Given the description of an element on the screen output the (x, y) to click on. 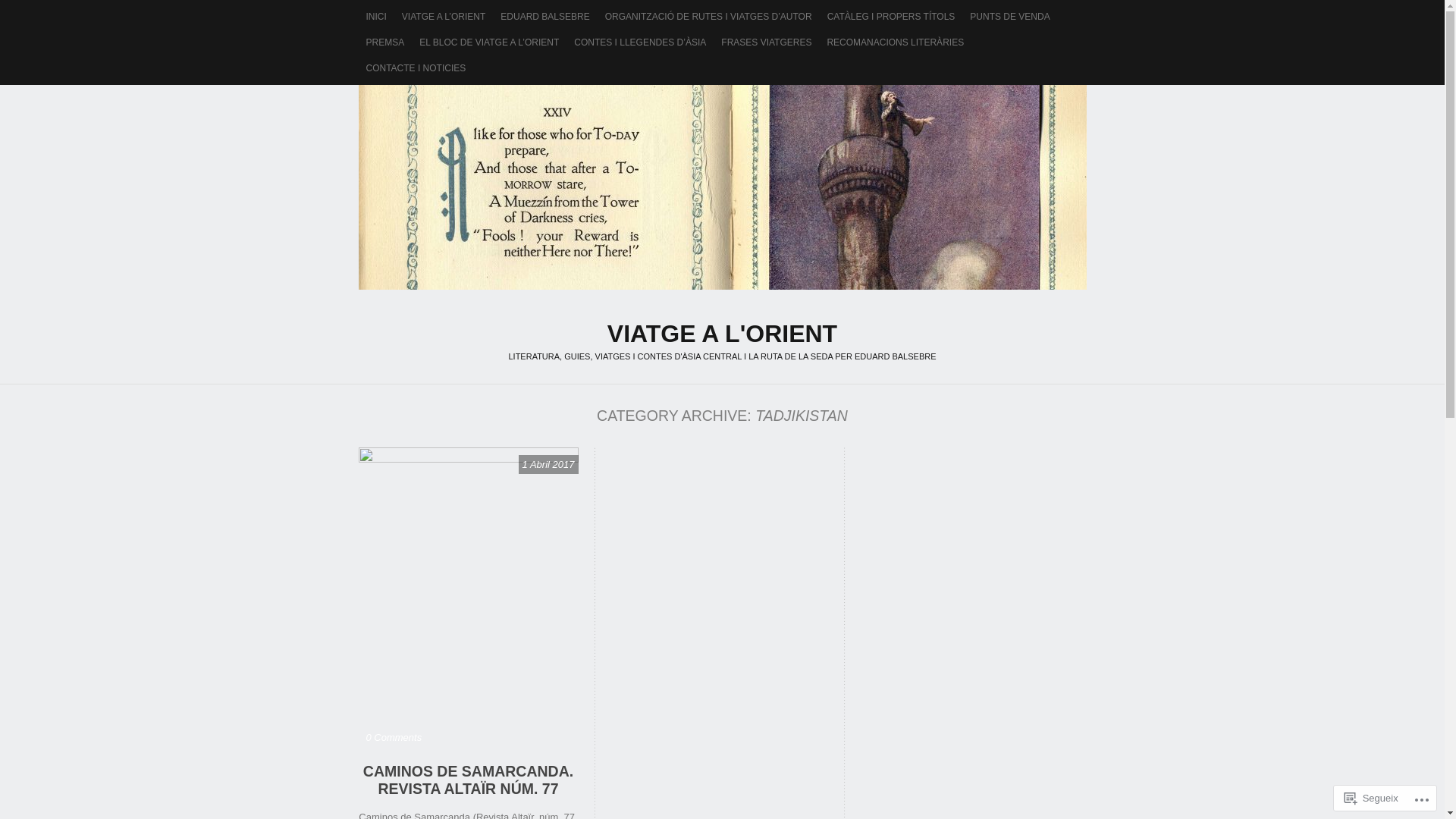
INICI Element type: text (375, 16)
FRASES VIATGERES Element type: text (766, 42)
Viatge a l'Orient Element type: text (721, 186)
CONTACTE I NOTICIES Element type: text (415, 68)
0 Comments Element type: text (393, 737)
PUNTS DE VENDA Element type: text (1009, 16)
Segueix Element type: text (1371, 797)
VIATGE A L'ORIENT Element type: text (721, 334)
1 Abril 2017 Element type: text (548, 464)
EDUARD BALSEBRE Element type: text (544, 16)
PREMSA Element type: text (384, 42)
